Given the description of an element on the screen output the (x, y) to click on. 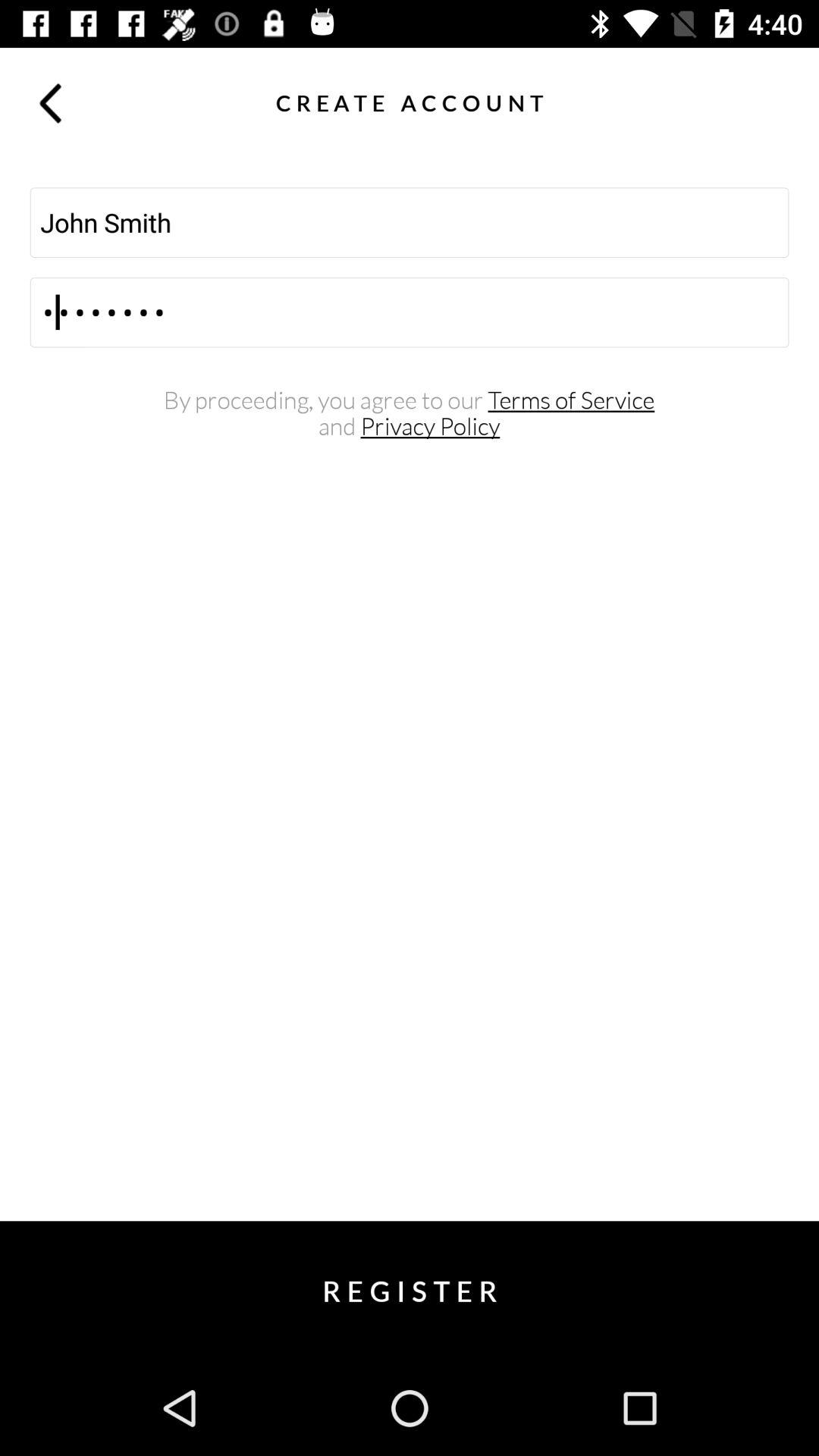
scroll to the by proceeding you item (408, 400)
